Given the description of an element on the screen output the (x, y) to click on. 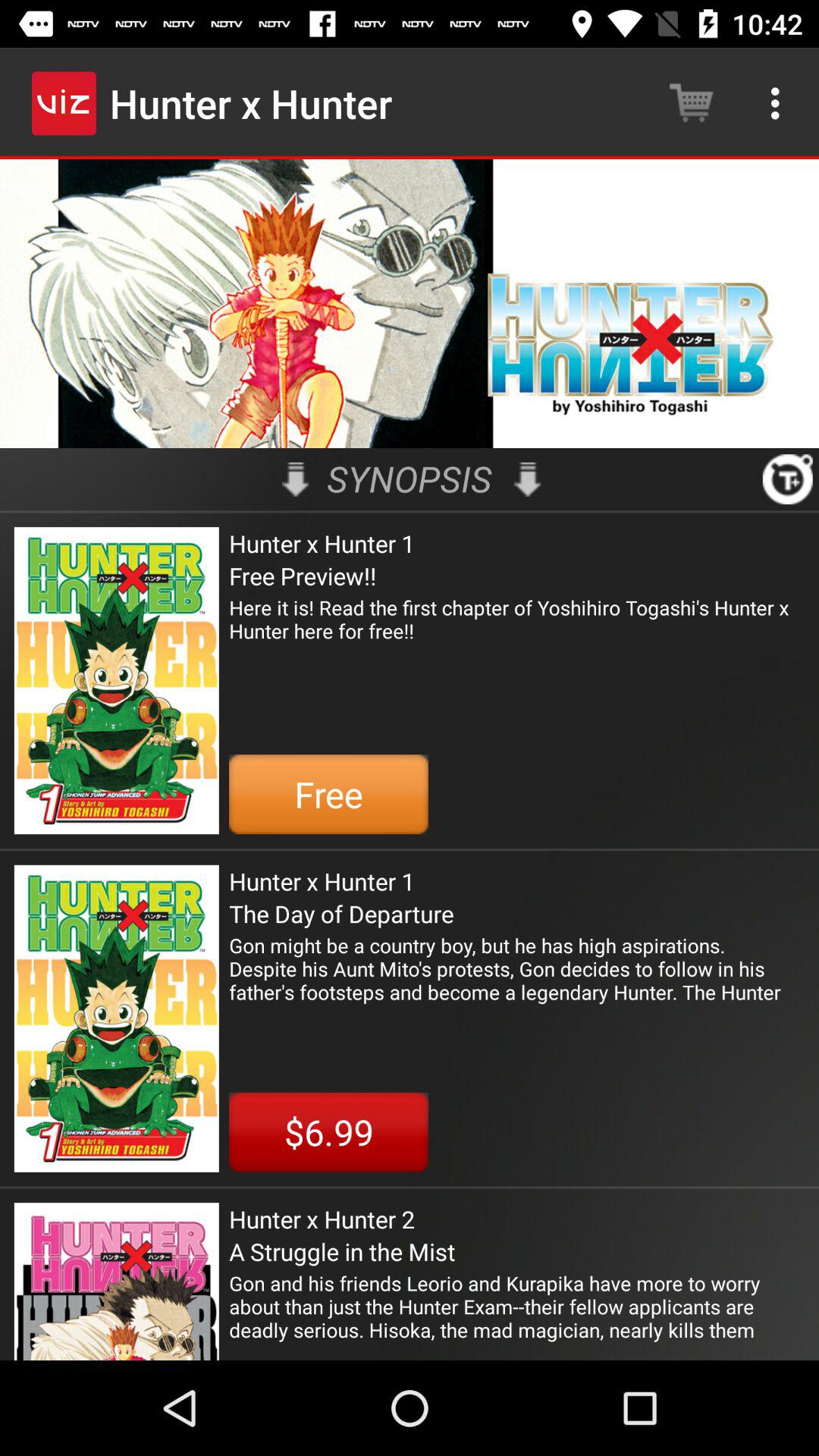
click item above hunter x hunter (295, 479)
